Given the description of an element on the screen output the (x, y) to click on. 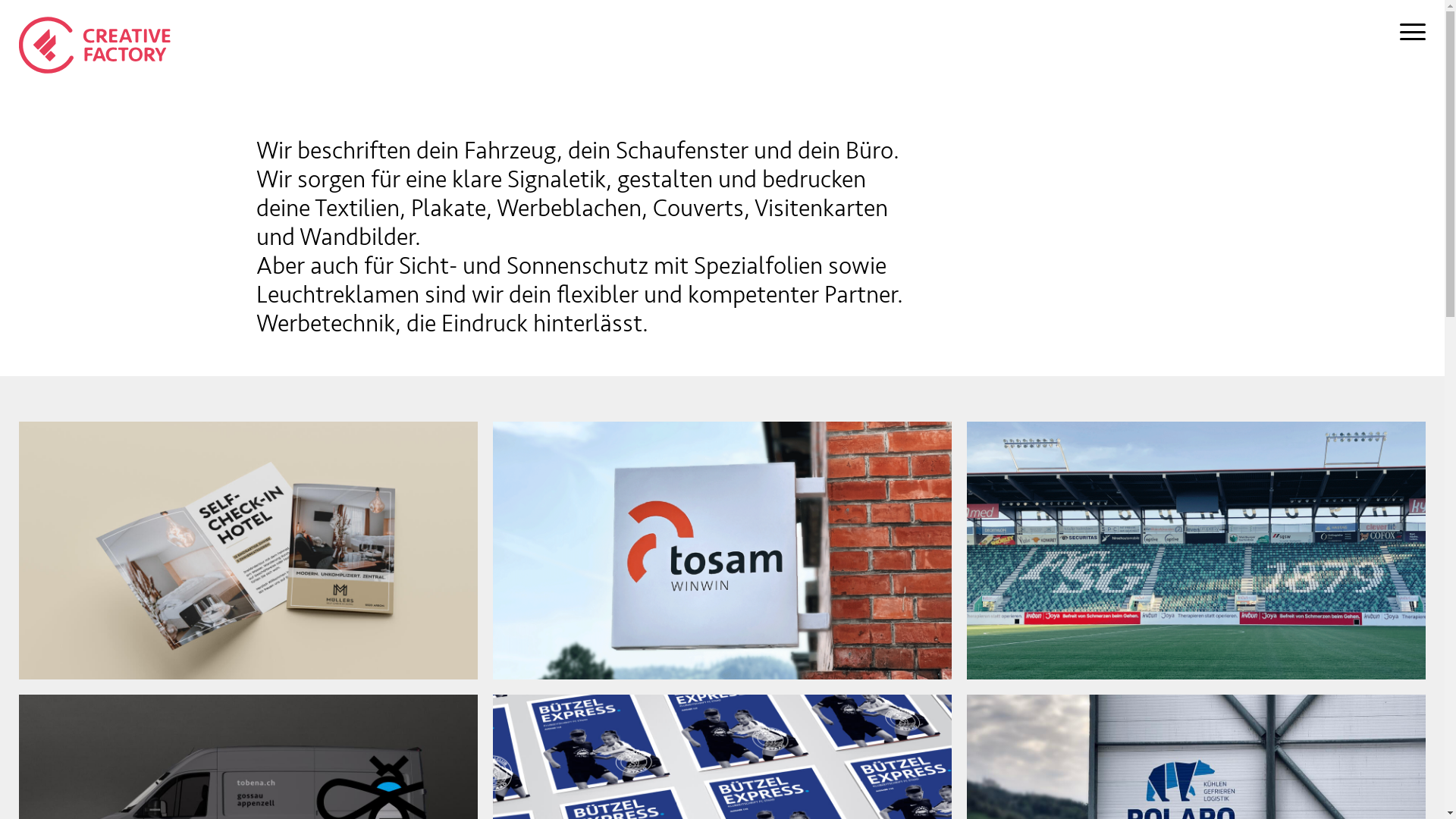
KUNDEN Element type: text (219, 621)
ANGEBOT Element type: text (219, 409)
WIR Element type: text (219, 515)
KONTAKT Element type: text (219, 727)
PROJEKTE Element type: text (219, 303)
